Given the description of an element on the screen output the (x, y) to click on. 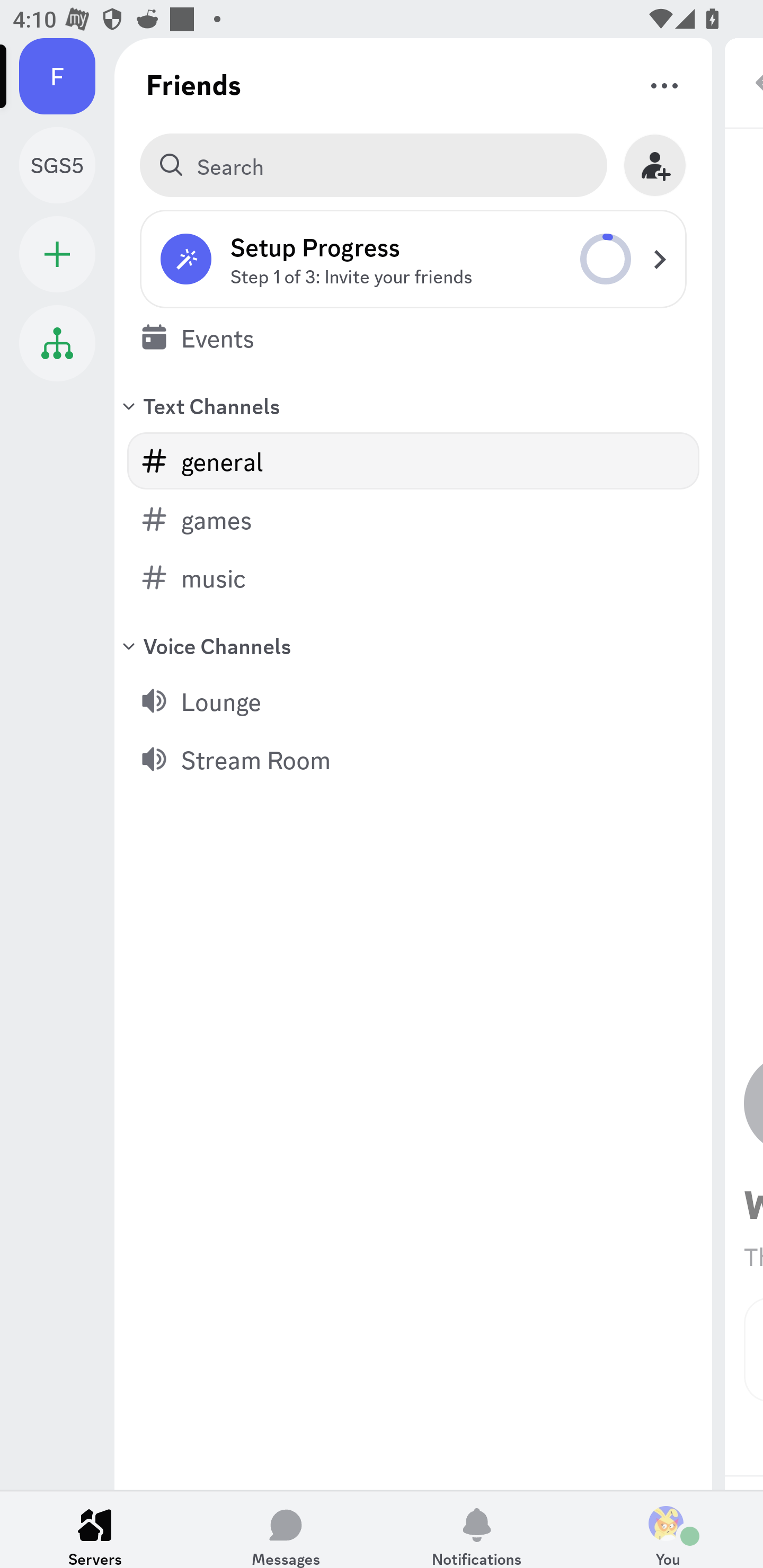
  Friends F (66, 75)
Friends (193, 83)
  Study Group Sunday 5PM SGS5 (66, 165)
Search (373, 165)
Invite (654, 165)
Add a Server (57, 253)
Student Hub (57, 343)
Events (413, 336)
Text Channels (412, 404)
general (text channel) general (413, 460)
games (text channel) games (413, 518)
music (text channel) music (413, 576)
Voice Channels (412, 644)
Lounge (voice channel), 0 users Lounge (413, 700)
Stream Room (voice channel), 0 users Stream Room (413, 758)
Servers (95, 1529)
Messages (285, 1529)
Notifications (476, 1529)
You (667, 1529)
